Given the description of an element on the screen output the (x, y) to click on. 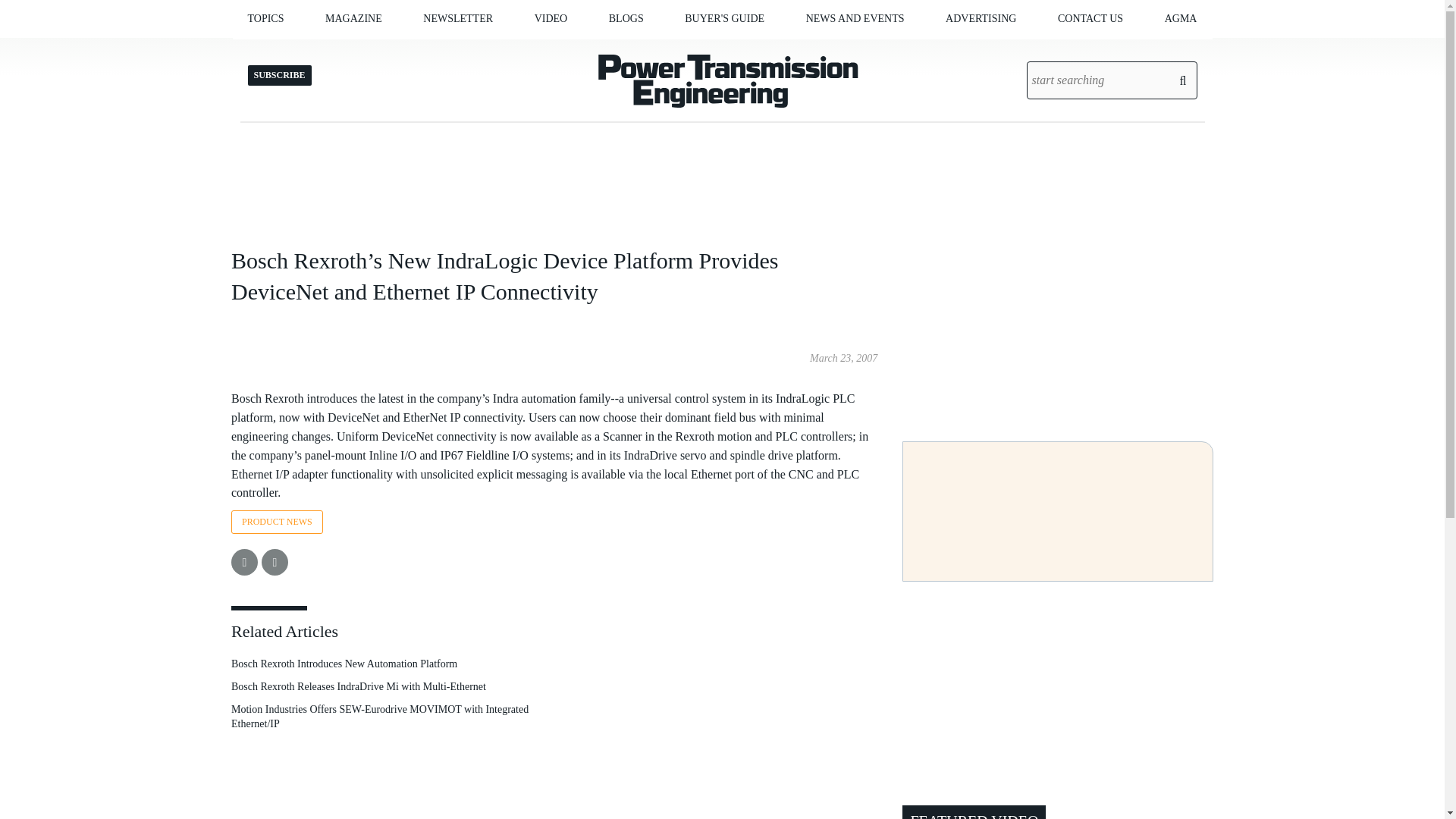
INDUSTRY (342, 50)
ADVERTISE (419, 50)
REVOLUTIONS (684, 50)
NEWS AND EVENTS (855, 18)
EVENTS (892, 50)
ADVERTISING (980, 18)
APPLICATIONS (334, 50)
POWER TRANSMISSION ENGINEERING TV (609, 55)
COMPONENTS (338, 50)
DEPARTMENTS (407, 50)
